Given the description of an element on the screen output the (x, y) to click on. 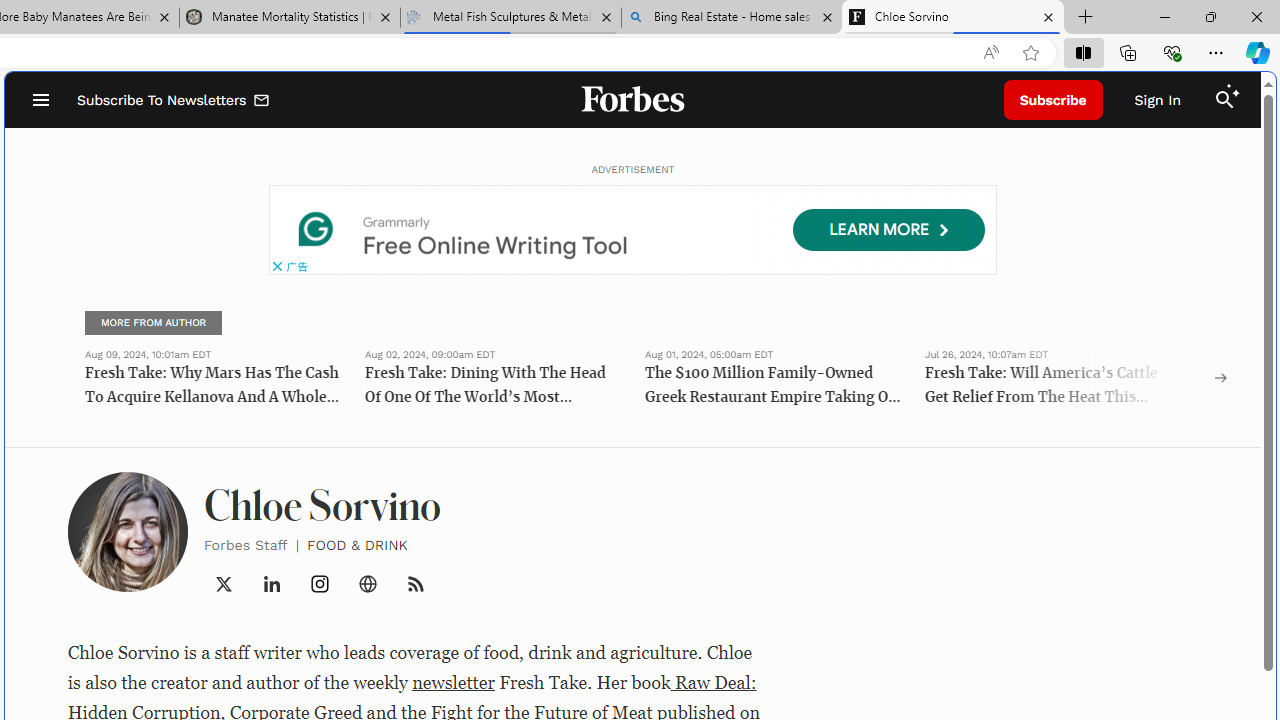
Class: search_svg__fs-icon search_svg__fs-icon--search (1224, 99)
Class: _4mQLn (367, 583)
FOOD & DRINK (357, 543)
Class: VGJkz (415, 583)
Chloe Sorvino (953, 17)
Open Navigation Menu (40, 99)
Manatee Mortality Statistics | FWC (290, 17)
Class: j2XH_ (415, 583)
